Given the description of an element on the screen output the (x, y) to click on. 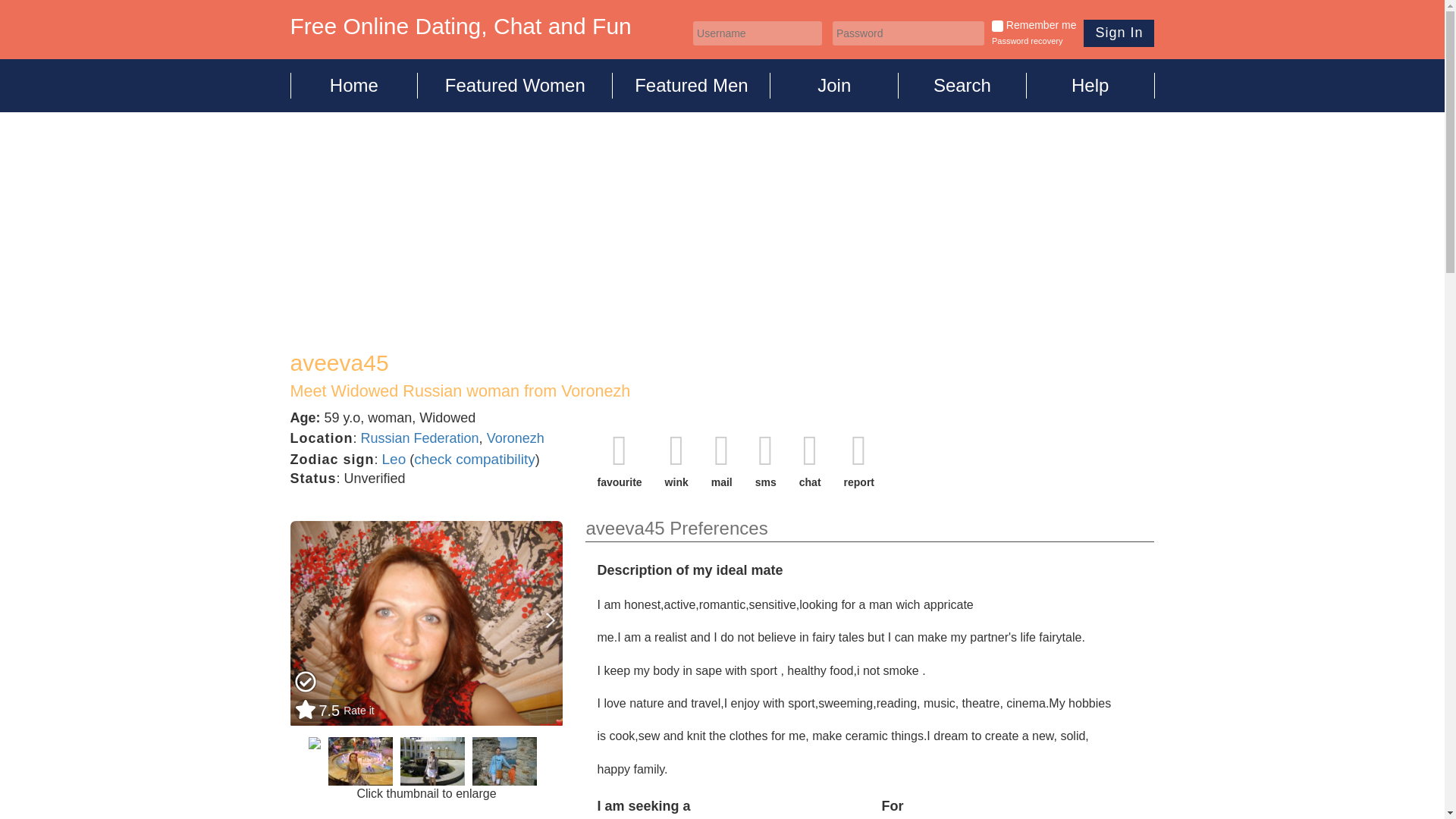
Rate it (360, 710)
Search (962, 85)
Featured Men (691, 85)
Sign In (1118, 32)
Russian Federation (420, 437)
Voronezh (515, 437)
check compatibility (473, 458)
Leo (393, 458)
Join (834, 85)
Featured Women (514, 85)
Home (353, 85)
Sign In (1118, 32)
Password recovery (1026, 40)
